Given the description of an element on the screen output the (x, y) to click on. 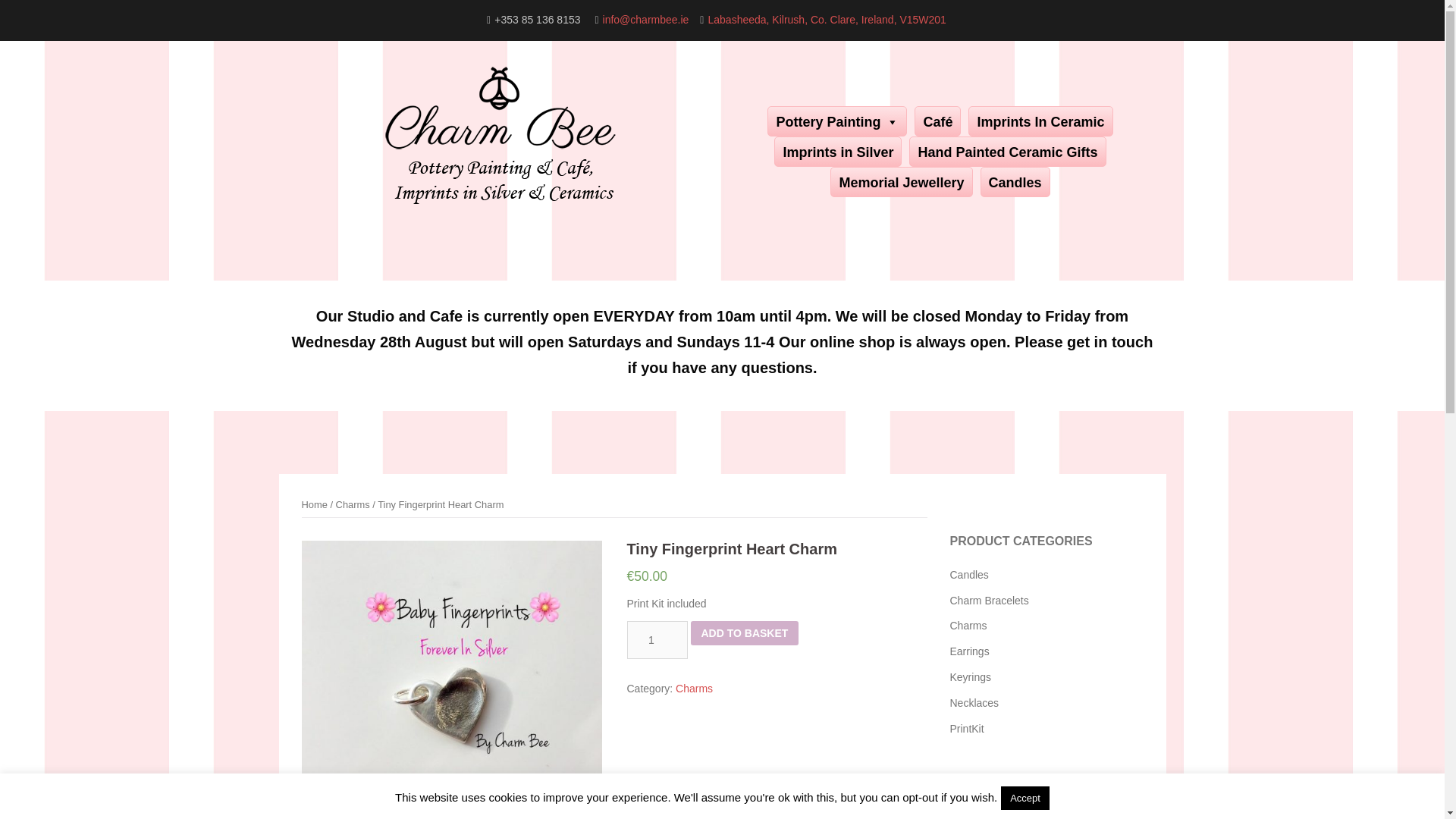
Charms (694, 688)
Candles (1014, 182)
Charms (352, 504)
Imprints In Ceramic (1040, 121)
Candles (968, 574)
Charm Bee (499, 144)
1 (656, 639)
Pottery Painting (837, 121)
Hand Painted Ceramic Gifts (1006, 151)
ADD TO BASKET (743, 632)
